Given the description of an element on the screen output the (x, y) to click on. 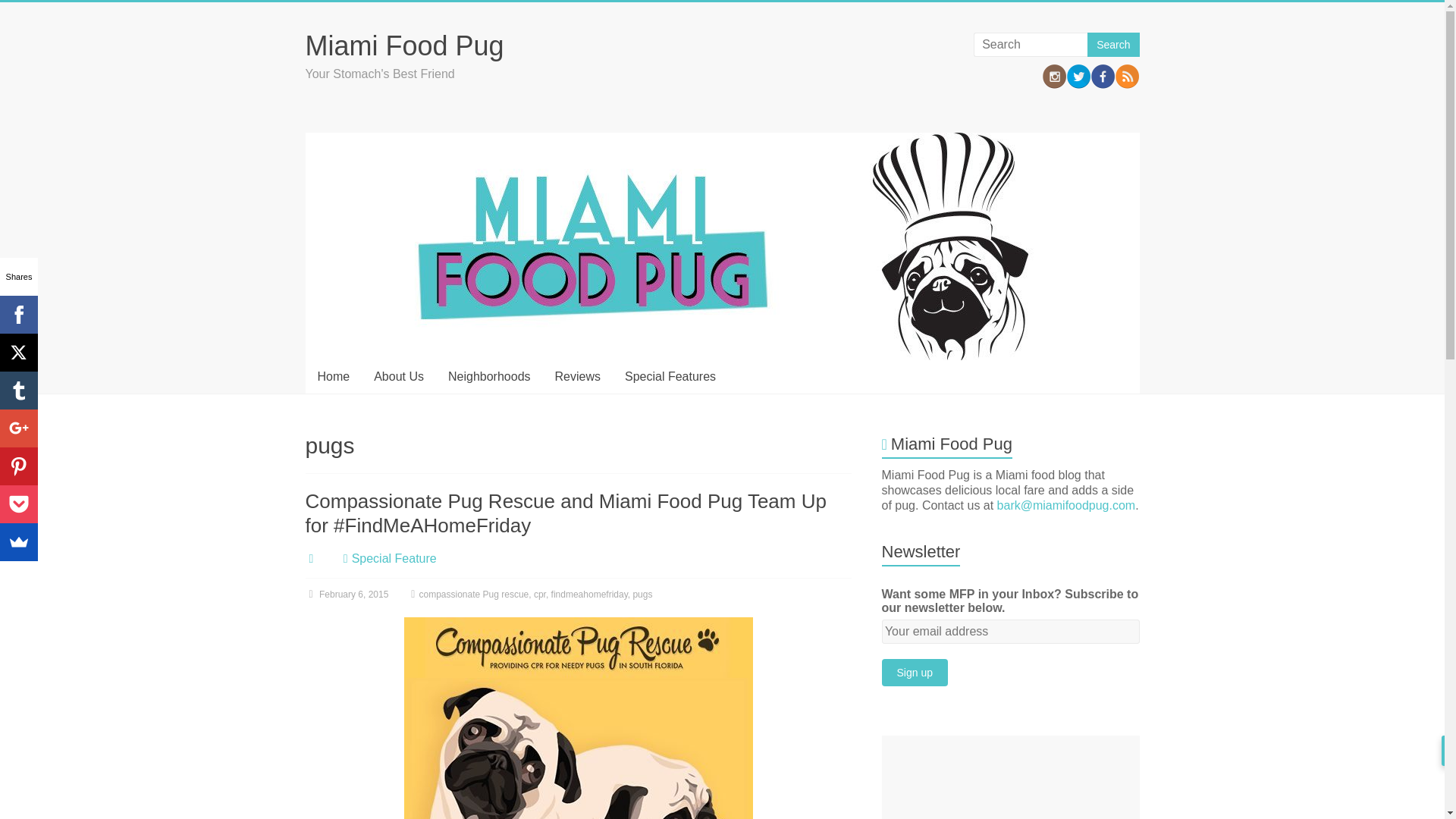
Twitter (1077, 76)
Sign up (914, 672)
Search (1112, 44)
compassionate Pug rescue (473, 593)
pugs (641, 593)
RSS (1126, 76)
Neighborhoods (489, 376)
findmeahomefriday (589, 593)
Miami Food Pug (403, 45)
Home (332, 376)
Search (1112, 44)
February 6, 2015 (346, 593)
cpr (540, 593)
Special Feature (394, 558)
X (18, 352)
